Given the description of an element on the screen output the (x, y) to click on. 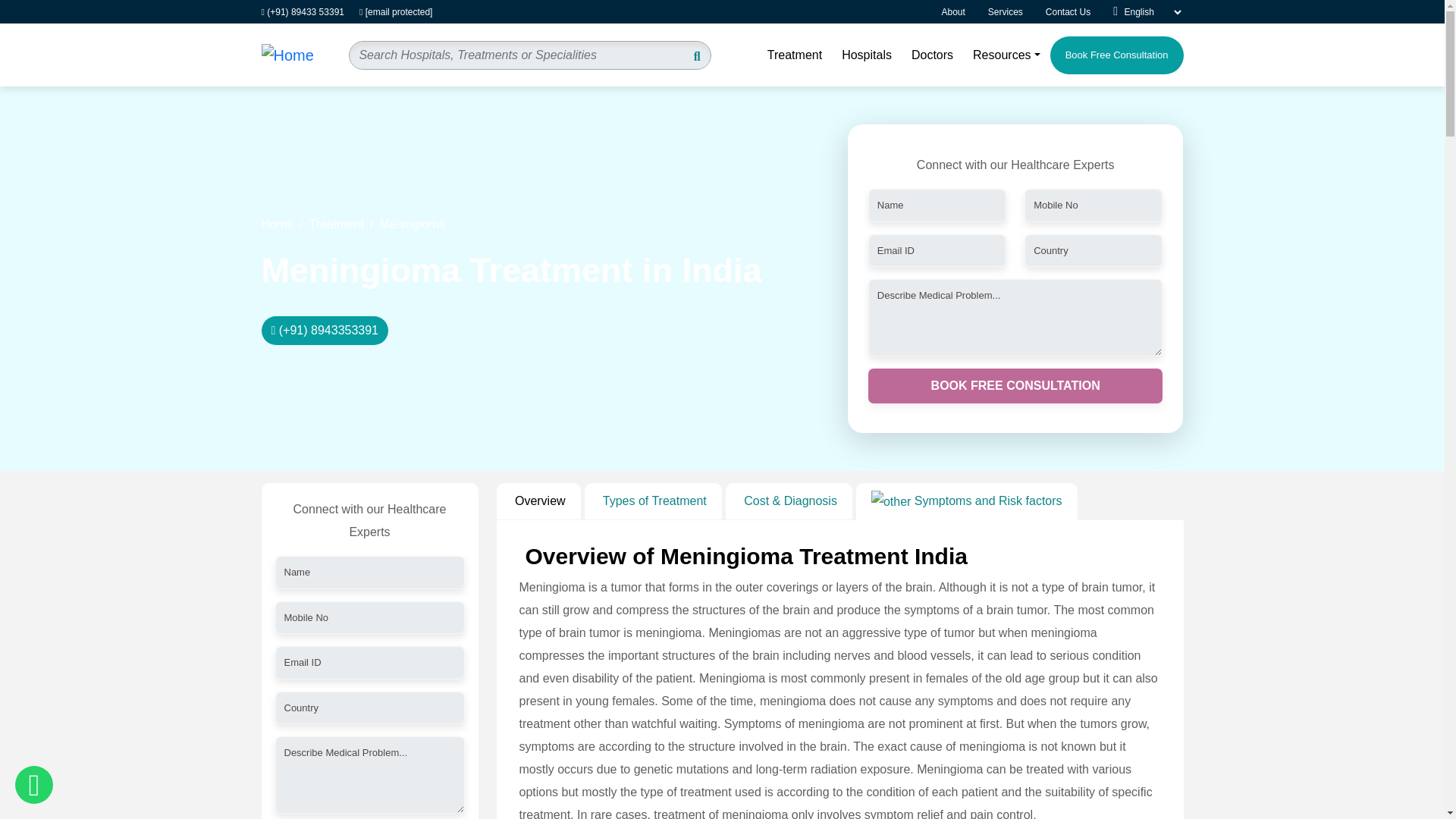
Symptoms and Risk factors (966, 501)
Contact Us (1079, 11)
Book Free Consultation (1116, 55)
About (963, 11)
Hospitals (866, 54)
BOOK FREE CONSULTATION (1015, 385)
Services (1016, 11)
Overview (537, 501)
Treatment (336, 223)
Home (277, 223)
Resources (1005, 54)
Doctors (931, 54)
Types of Treatment (653, 501)
Treatment (794, 54)
